Given the description of an element on the screen output the (x, y) to click on. 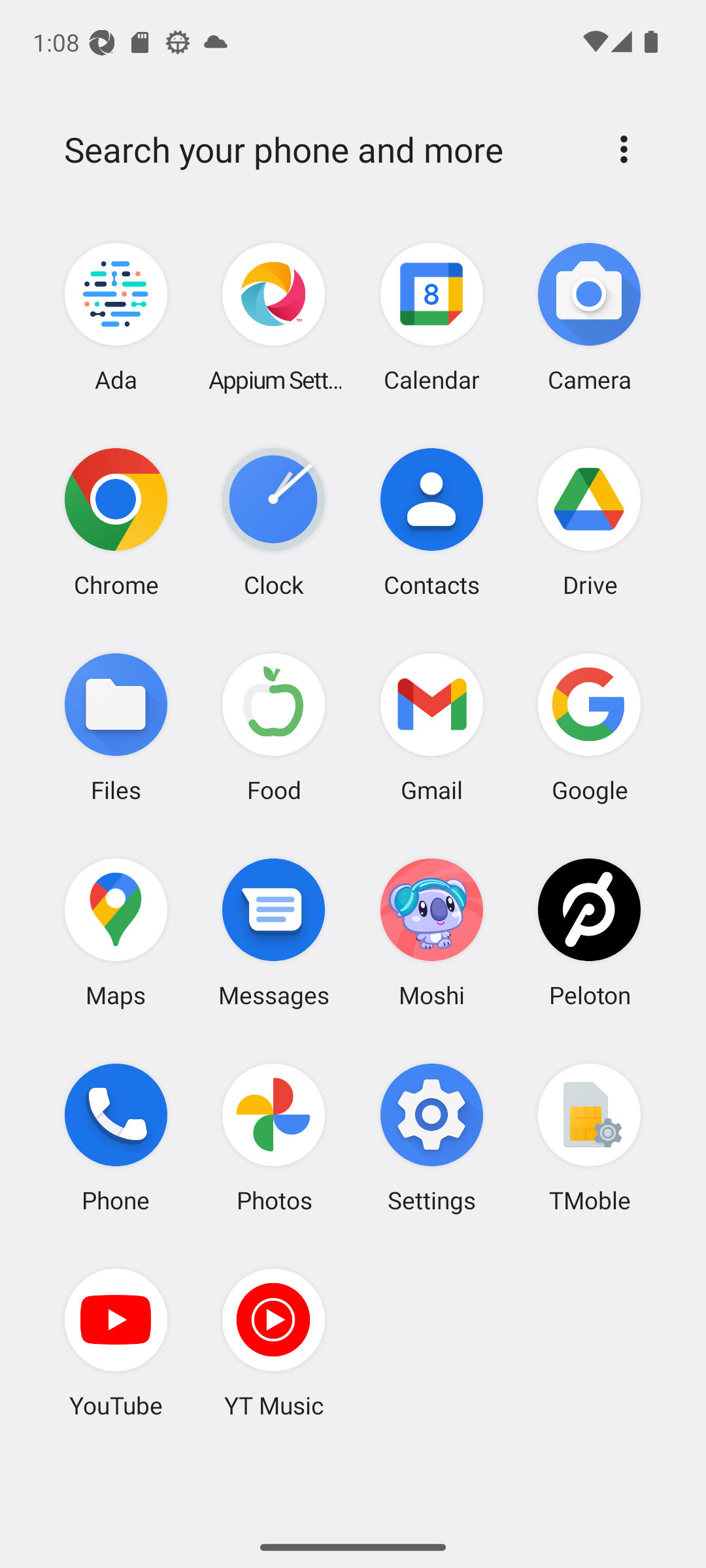
Search your phone and more (321, 149)
Preferences (623, 149)
Ada (115, 317)
Appium Settings (273, 317)
Calendar (431, 317)
Camera (589, 317)
Chrome (115, 522)
Clock (273, 522)
Contacts (431, 522)
Drive (589, 522)
Files (115, 726)
Food (273, 726)
Gmail (431, 726)
Google (589, 726)
Maps (115, 931)
Messages (273, 931)
Moshi (431, 931)
Peloton (589, 931)
Phone (115, 1137)
Photos (273, 1137)
Settings (431, 1137)
TMoble (589, 1137)
YouTube (115, 1342)
YT Music (273, 1342)
